Given the description of an element on the screen output the (x, y) to click on. 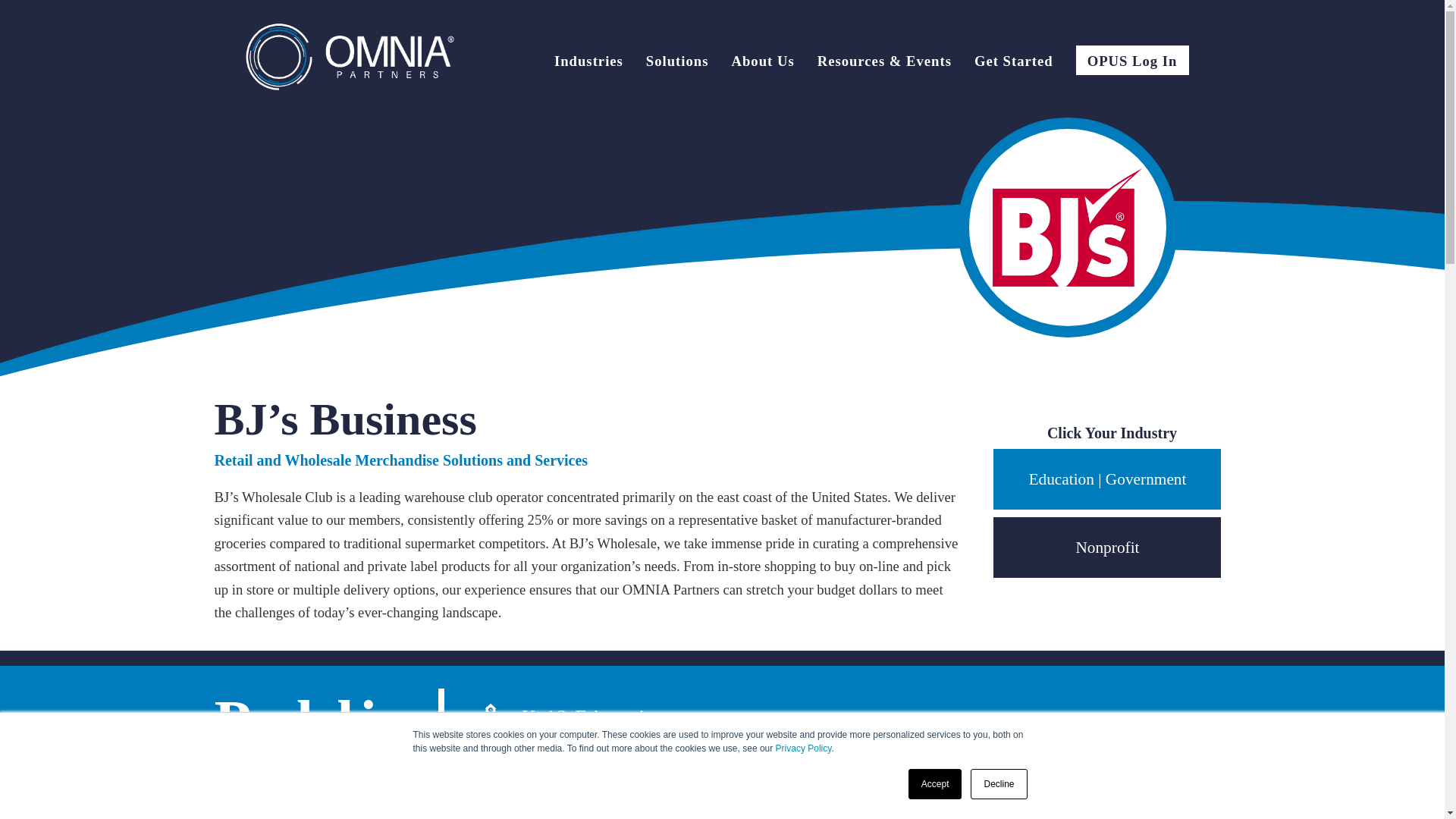
Get Started (1013, 62)
Solutions (677, 62)
OPUS Log In (1132, 60)
Solutions (677, 62)
About Us (761, 62)
About Us (761, 62)
Decline (998, 784)
Industries (588, 62)
Accept (935, 784)
Industries (588, 62)
Privacy Policy (803, 747)
